Given the description of an element on the screen output the (x, y) to click on. 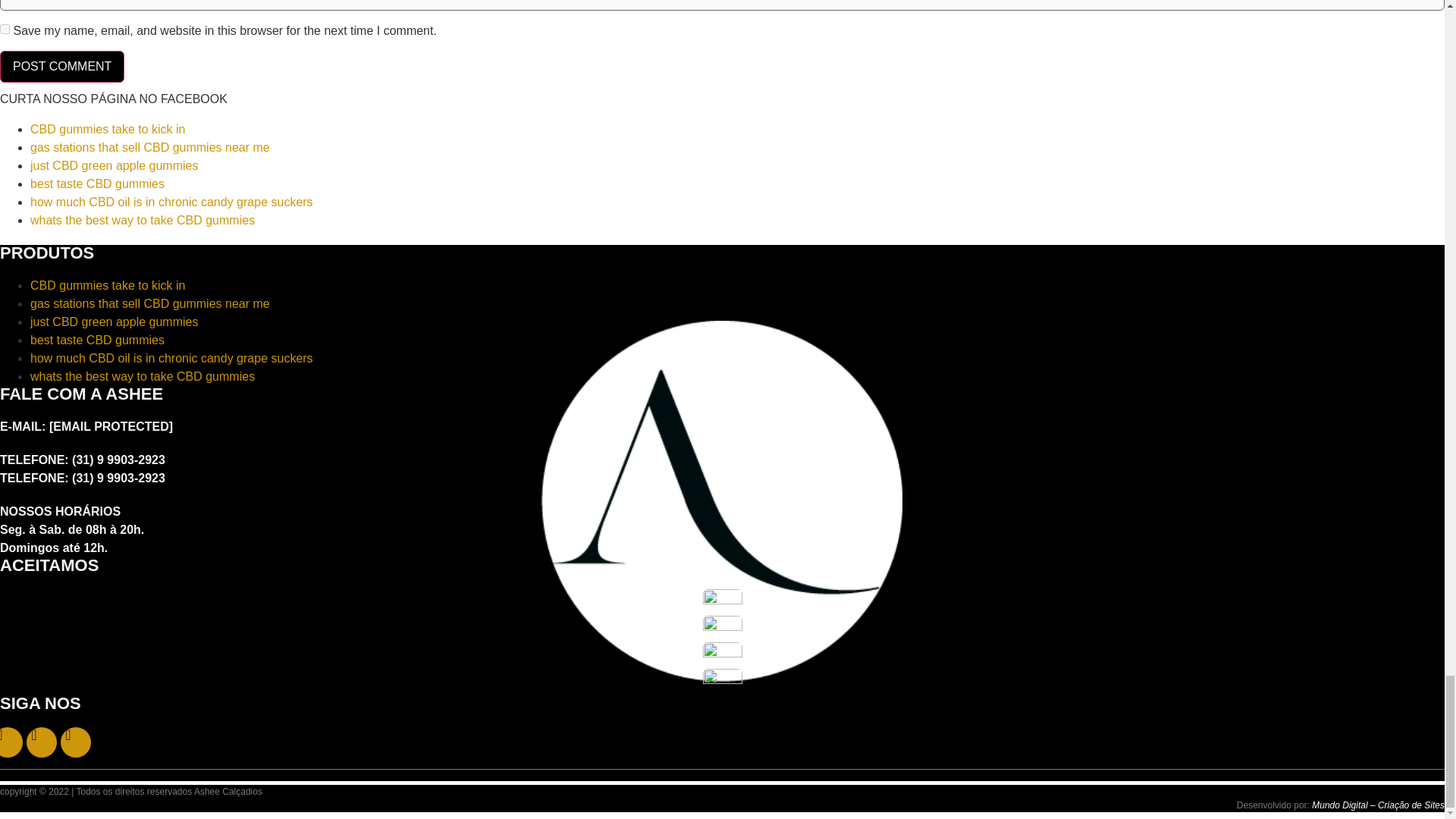
gas stations that sell CBD gummies near me (149, 303)
yes (5, 29)
just CBD green apple gummies (114, 321)
CBD gummies take to kick in (108, 285)
best taste CBD gummies (97, 183)
Post Comment (61, 66)
Post Comment (61, 66)
best taste CBD gummies (97, 339)
just CBD green apple gummies (114, 164)
whats the best way to take CBD gummies (142, 219)
CBD gummies take to kick in (108, 128)
gas stations that sell CBD gummies near me (149, 146)
how much CBD oil is in chronic candy grape suckers (171, 201)
